Given the description of an element on the screen output the (x, y) to click on. 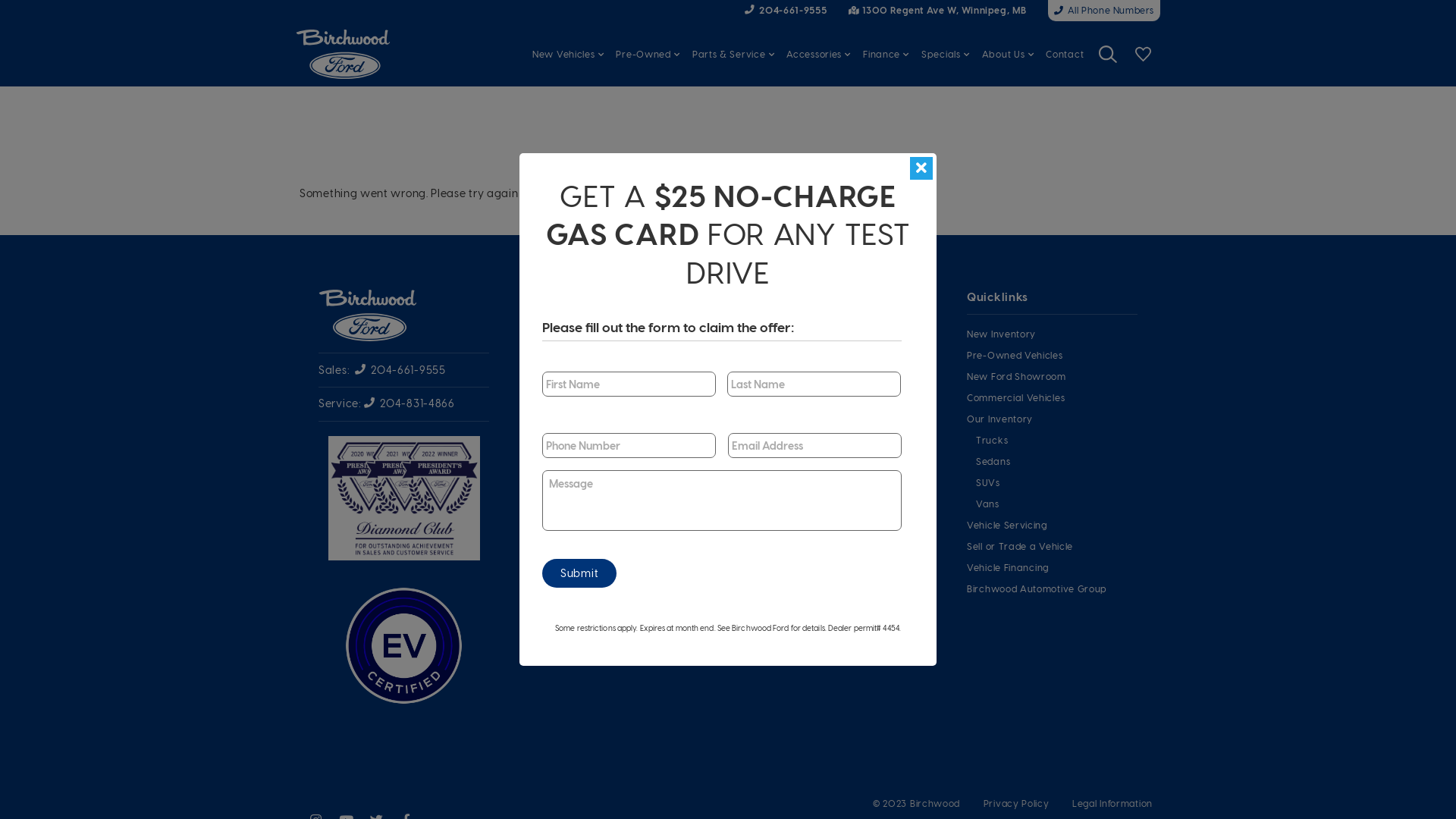
Vans Element type: text (1056, 503)
204-831-4866 Element type: text (409, 402)
Sell or Trade a Vehicle Element type: text (1051, 545)
Submit Element type: text (579, 572)
Careers Element type: text (835, 479)
Specials Element type: text (945, 53)
New Vehicles Element type: text (567, 53)
204-661-9555 Element type: text (785, 9)
Parts & Service Element type: text (733, 53)
Commercial Vehicles Element type: text (1051, 396)
Accessories Element type: text (818, 53)
Vehicle Financing Element type: text (1051, 566)
Birchwood Automotive Group Element type: text (1051, 588)
Trucks Element type: text (1056, 439)
Finance Element type: text (885, 53)
Contact Element type: text (1064, 53)
Vehicle Servicing Element type: text (1051, 524)
Our Inventory Element type: text (1051, 418)
Privacy Policy Element type: text (1016, 802)
Pre-Owned Element type: text (647, 53)
SUVs Element type: text (1056, 481)
About Us Element type: text (835, 458)
Sedans Element type: text (1056, 460)
My Vehicles Element type: text (1142, 53)
View map Element type: text (786, 413)
Birchwood-Ford_Logo-RGB_Primary-Knockout Element type: hover (367, 315)
All Phone Numbers Element type: text (1104, 10)
About Us Element type: text (1007, 53)
Contact Element type: text (835, 500)
204-661-9555 Element type: text (399, 369)
New Inventory Element type: text (1051, 333)
204-661-9555 Element type: text (826, 386)
1300 Regent Ave W, Winnipeg, MB Element type: text (937, 10)
Legal Information Element type: text (1112, 802)
Pre-Owned Vehicles Element type: text (1051, 354)
New Ford Showroom Element type: text (1051, 375)
